Given the description of an element on the screen output the (x, y) to click on. 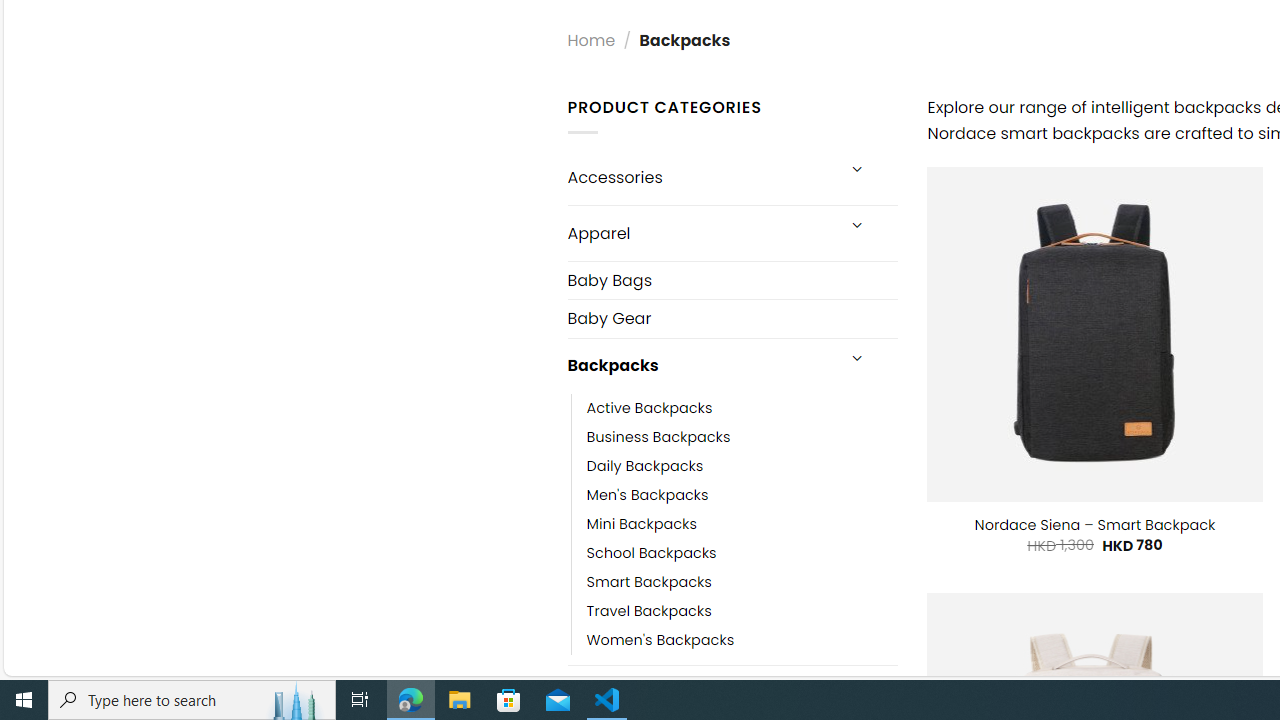
Men's Backpacks (647, 494)
Women's Backpacks (742, 639)
Travel Backpacks (648, 610)
Mini Backpacks (742, 524)
Daily Backpacks (645, 465)
Active Backpacks (649, 408)
Baby Gear (732, 317)
Women's Backpacks (660, 639)
Travel Backpacks (742, 610)
Mini Backpacks (641, 524)
Smart Backpacks (648, 581)
Baby Gear (732, 318)
Accessories (700, 177)
